Given the description of an element on the screen output the (x, y) to click on. 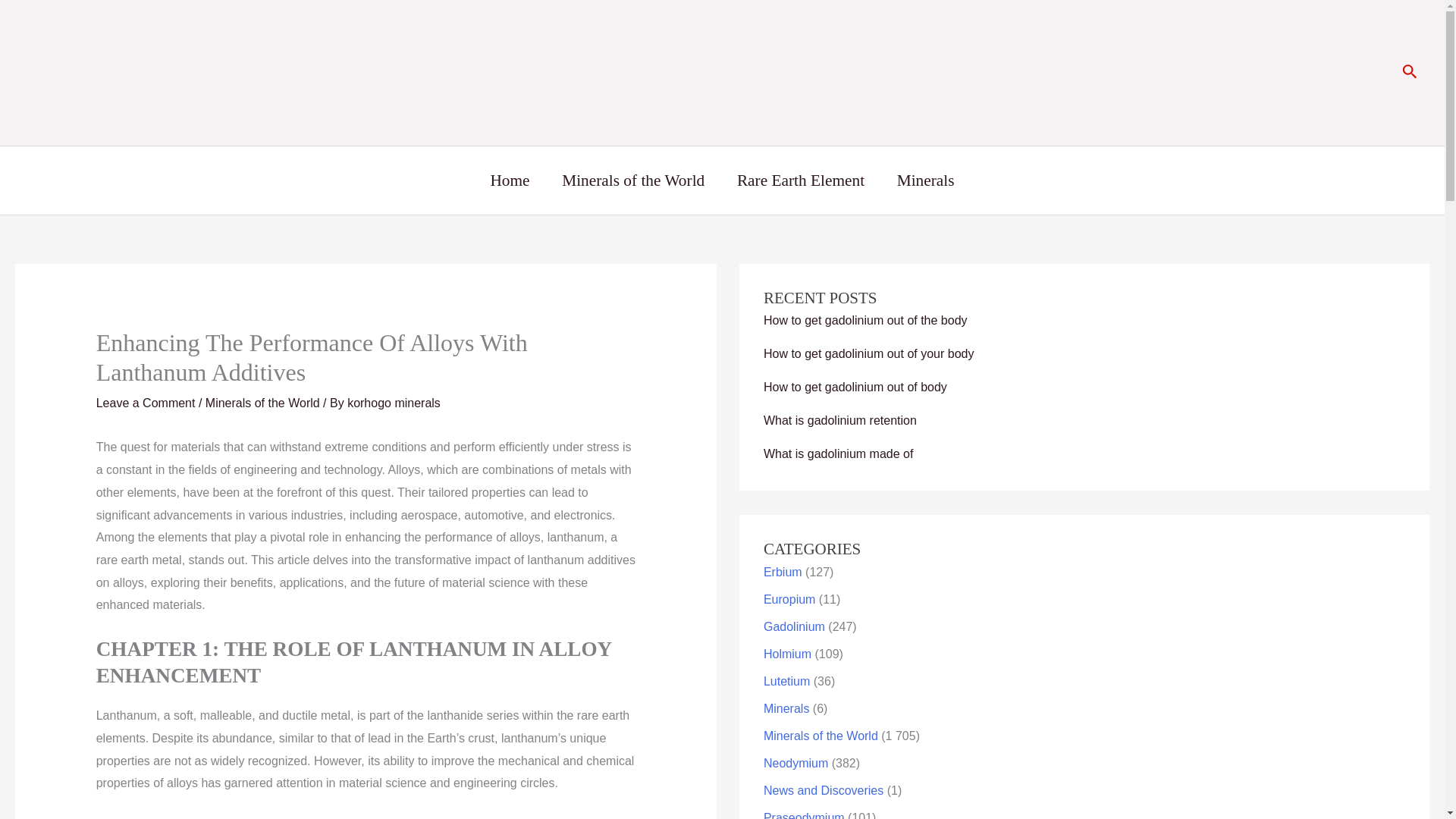
News and Discoveries (822, 789)
Minerals of the World (633, 180)
Praseodymium (803, 815)
Europium (788, 599)
What is gadolinium retention (839, 420)
Gadolinium (793, 626)
How to get gadolinium out of body (854, 386)
Holmium (786, 653)
Minerals of the World (262, 402)
What is gadolinium made of (837, 453)
